Given the description of an element on the screen output the (x, y) to click on. 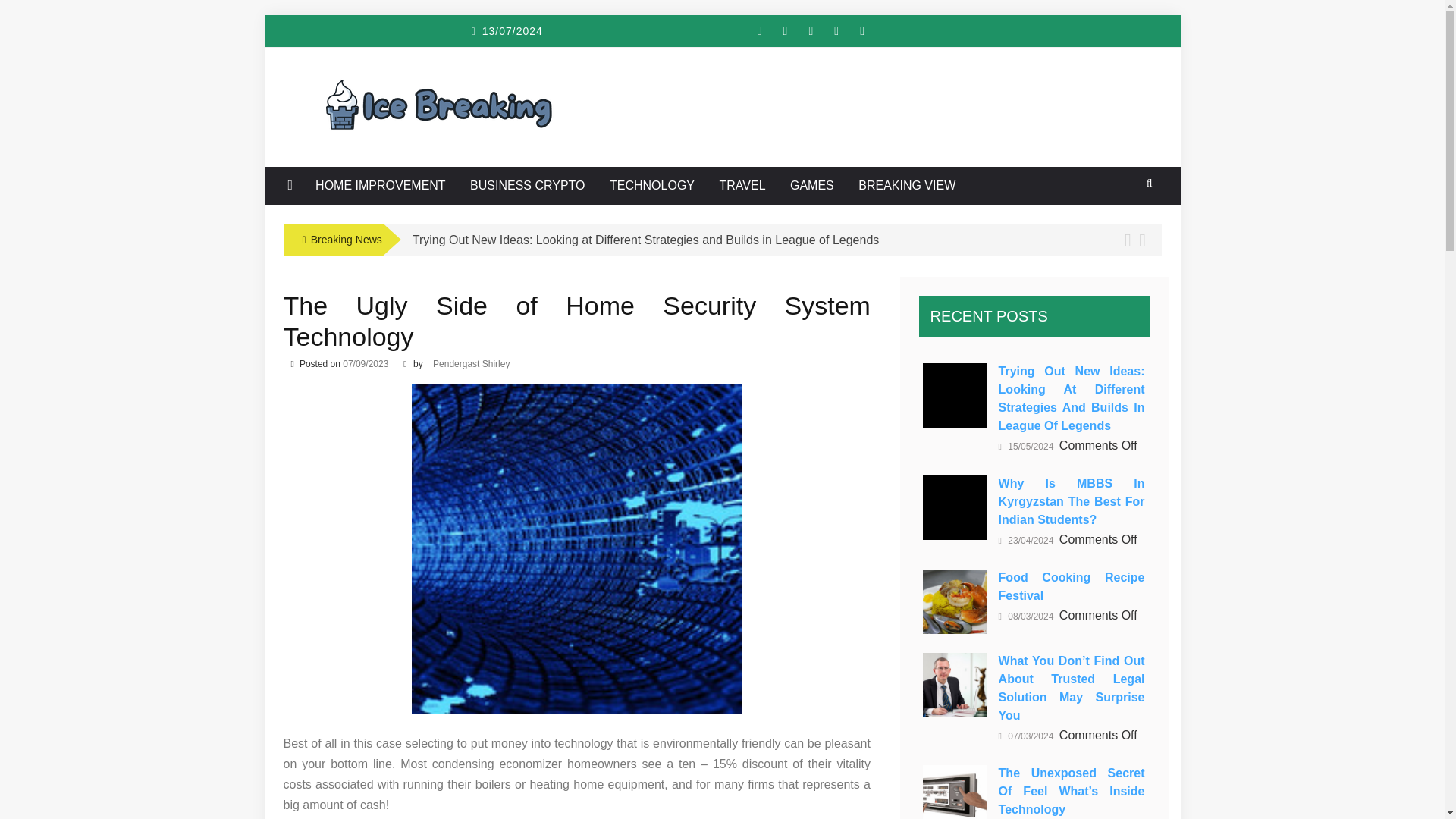
The Unexposed Secret of Feel What's Inside Technology (955, 791)
Food Cooking Recipe Festival (955, 601)
GAMES (811, 185)
Why is MBBS in Kyrgyzstan the best for Indian students? (955, 507)
TECHNOLOGY (652, 185)
BREAKING VIEW (906, 185)
BUSINESS CRYPTO (526, 185)
TRAVEL (741, 185)
HOME IMPROVEMENT (380, 185)
ICE BREAKING (421, 95)
